Given the description of an element on the screen output the (x, y) to click on. 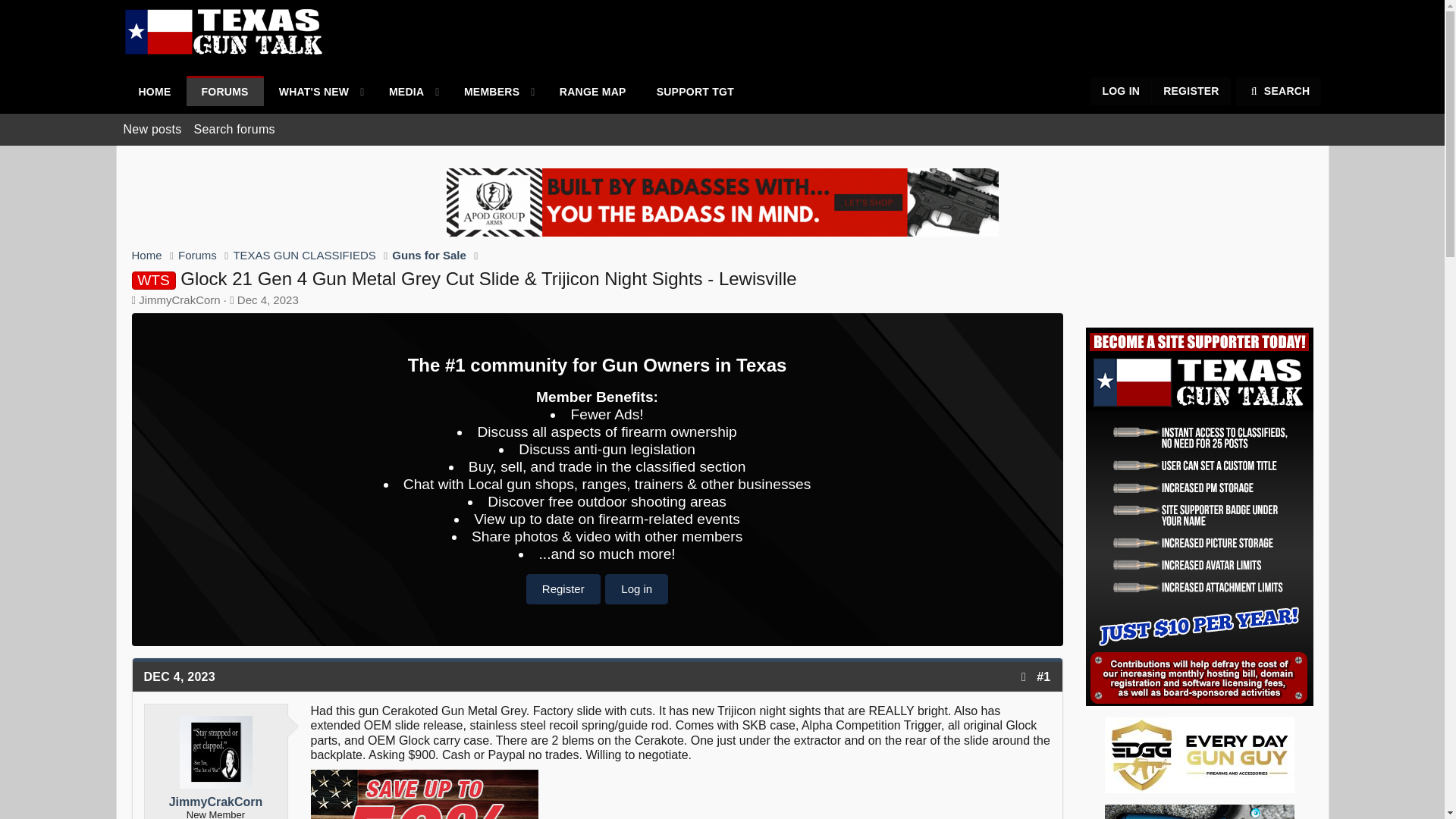
Dec 4, 2023 at 5:11 PM (267, 299)
RANGE MAP (593, 91)
FORUMS (224, 91)
LOG IN (1120, 90)
SEARCH (1279, 91)
Search (1279, 91)
HOME (154, 91)
Dec 4, 2023 at 5:11 PM (179, 676)
New posts (151, 128)
MEMBERS (435, 108)
Search forums (484, 91)
REGISTER (234, 128)
